Given the description of an element on the screen output the (x, y) to click on. 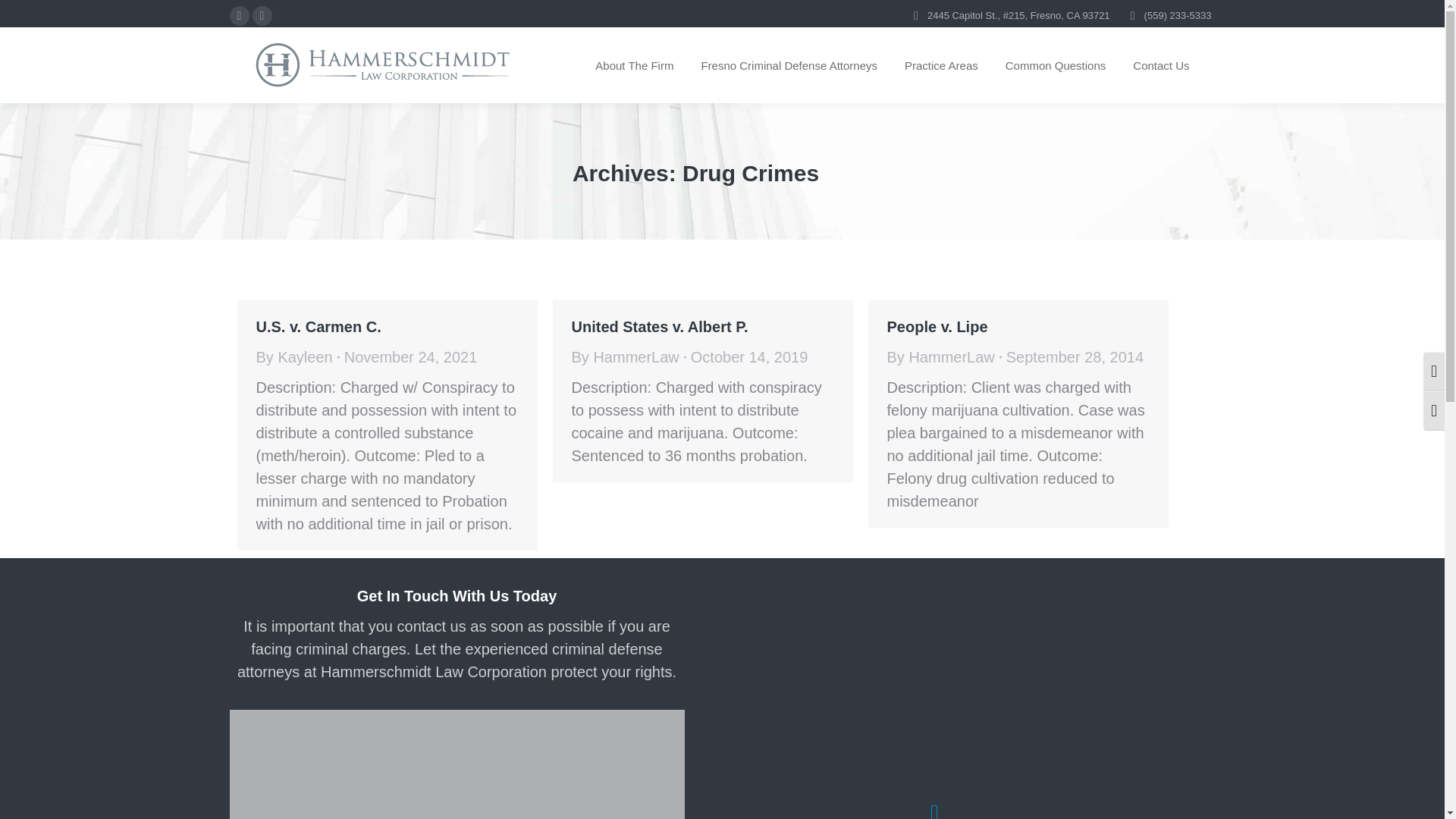
Facebook page opens in new window (238, 15)
Fresno Criminal Defense Attorneys (788, 64)
Common Questions (1056, 64)
Practice Areas (941, 64)
Contact Us (1160, 64)
Linkedin page opens in new window (260, 15)
About The Firm (634, 64)
